Given the description of an element on the screen output the (x, y) to click on. 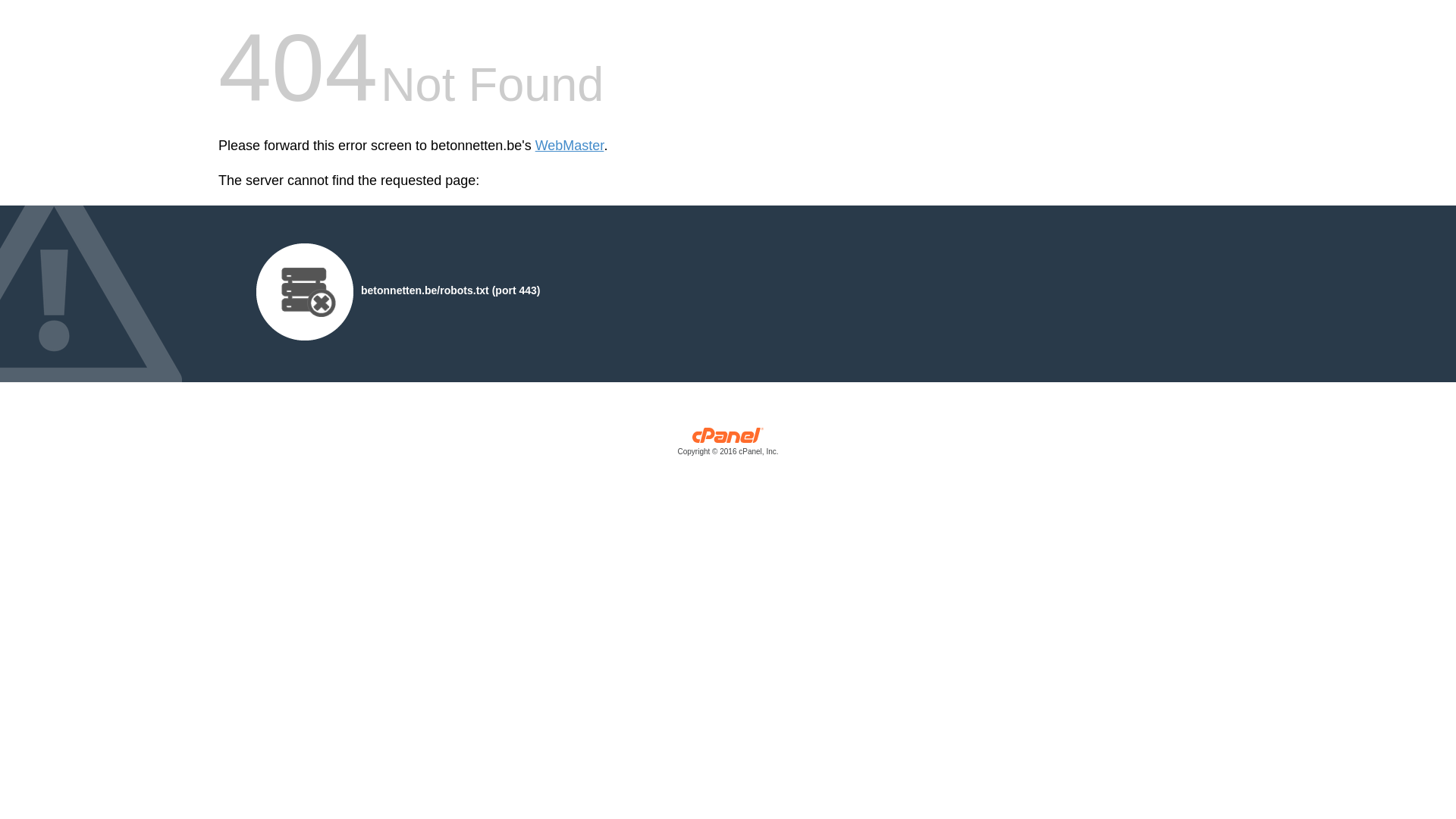
WebMaster Element type: text (569, 145)
